Given the description of an element on the screen output the (x, y) to click on. 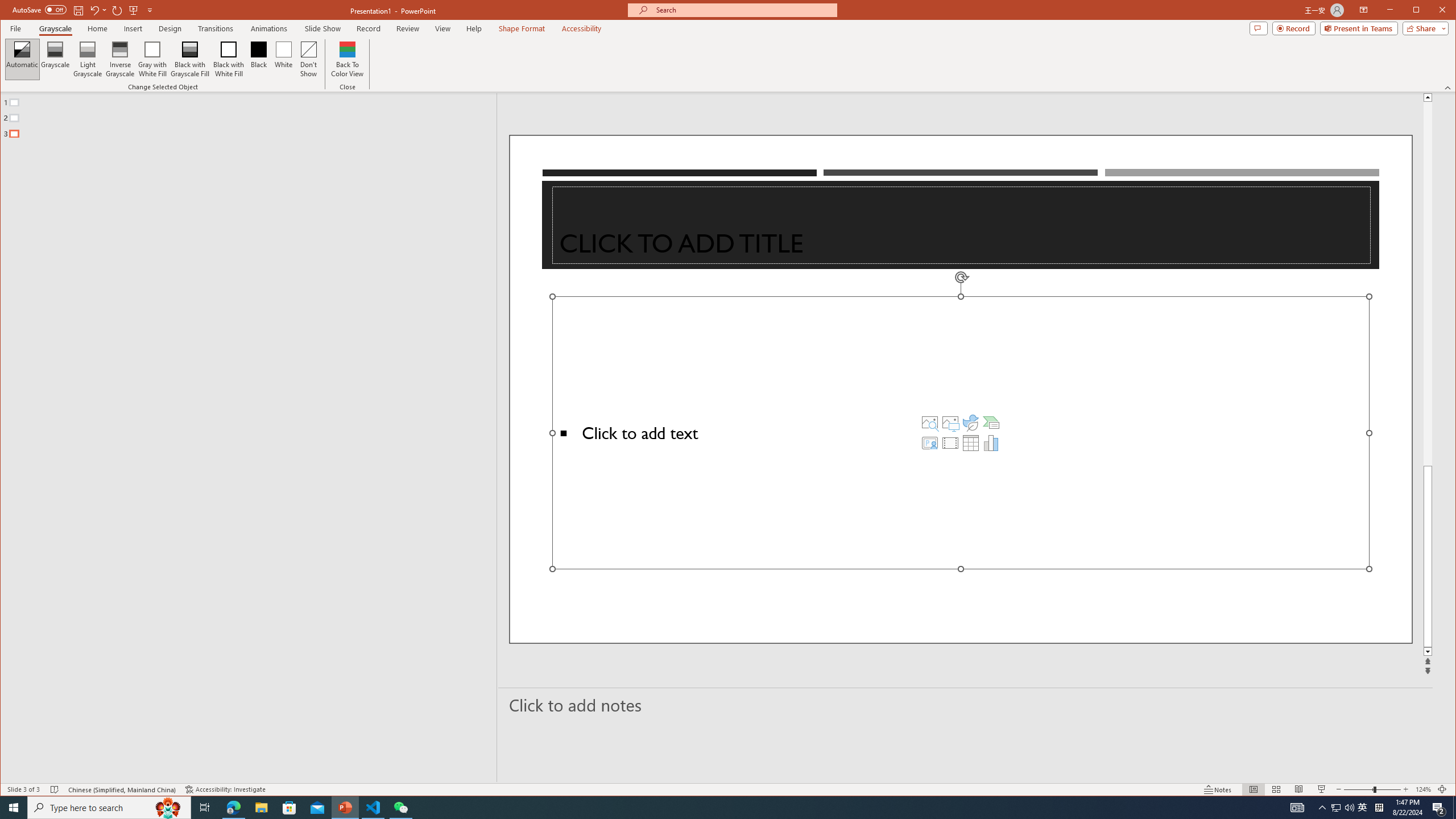
Don't Show (308, 59)
Black with White Fill (229, 59)
Inverse Grayscale (119, 59)
